Given the description of an element on the screen output the (x, y) to click on. 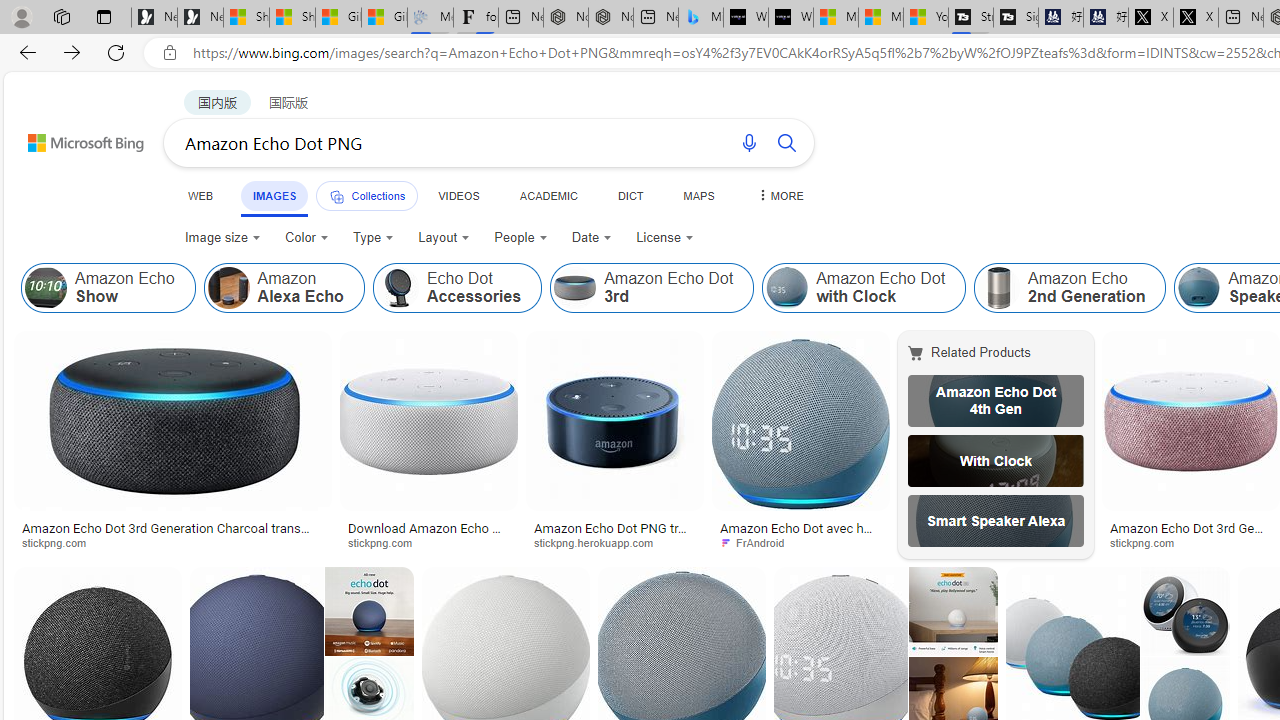
Amazon Echo Dot 4th Gen (995, 400)
Forward (72, 52)
Image result for Amazon Echo Dot PNG (1191, 421)
ACADEMIC (548, 195)
Class: item col (1070, 287)
Amazon Echo Dot 3rd (575, 287)
People (521, 237)
IMAGES (274, 195)
People (520, 237)
